Given the description of an element on the screen output the (x, y) to click on. 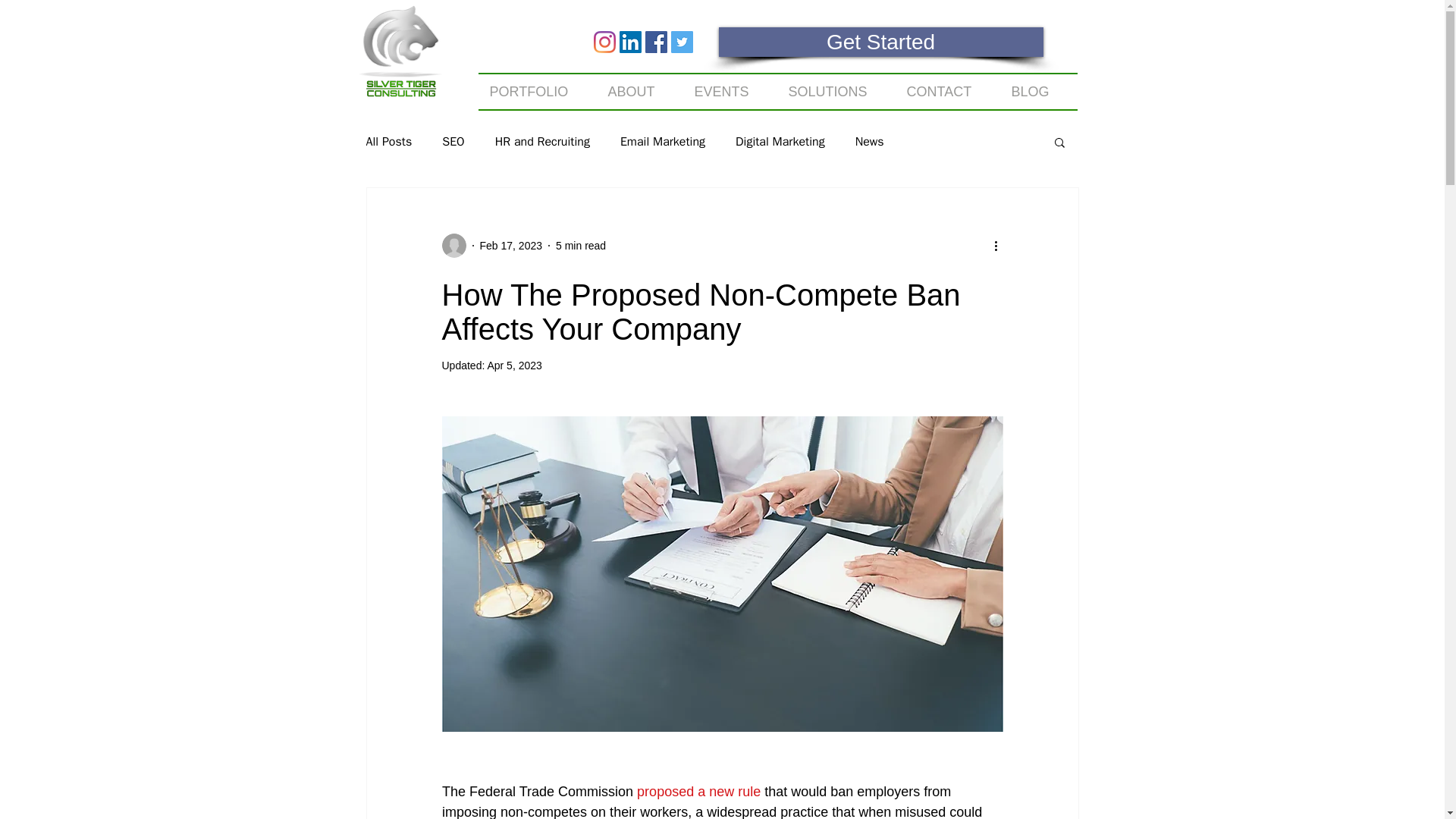
EVENTS (729, 91)
HR and Recruiting (542, 141)
BLOG (1037, 91)
Digital Marketing (780, 141)
ABOUT (638, 91)
CONTACT (946, 91)
PORTFOLIO (536, 91)
Get Started (881, 41)
SEO (453, 141)
proposed a new rule (698, 791)
